Given the description of an element on the screen output the (x, y) to click on. 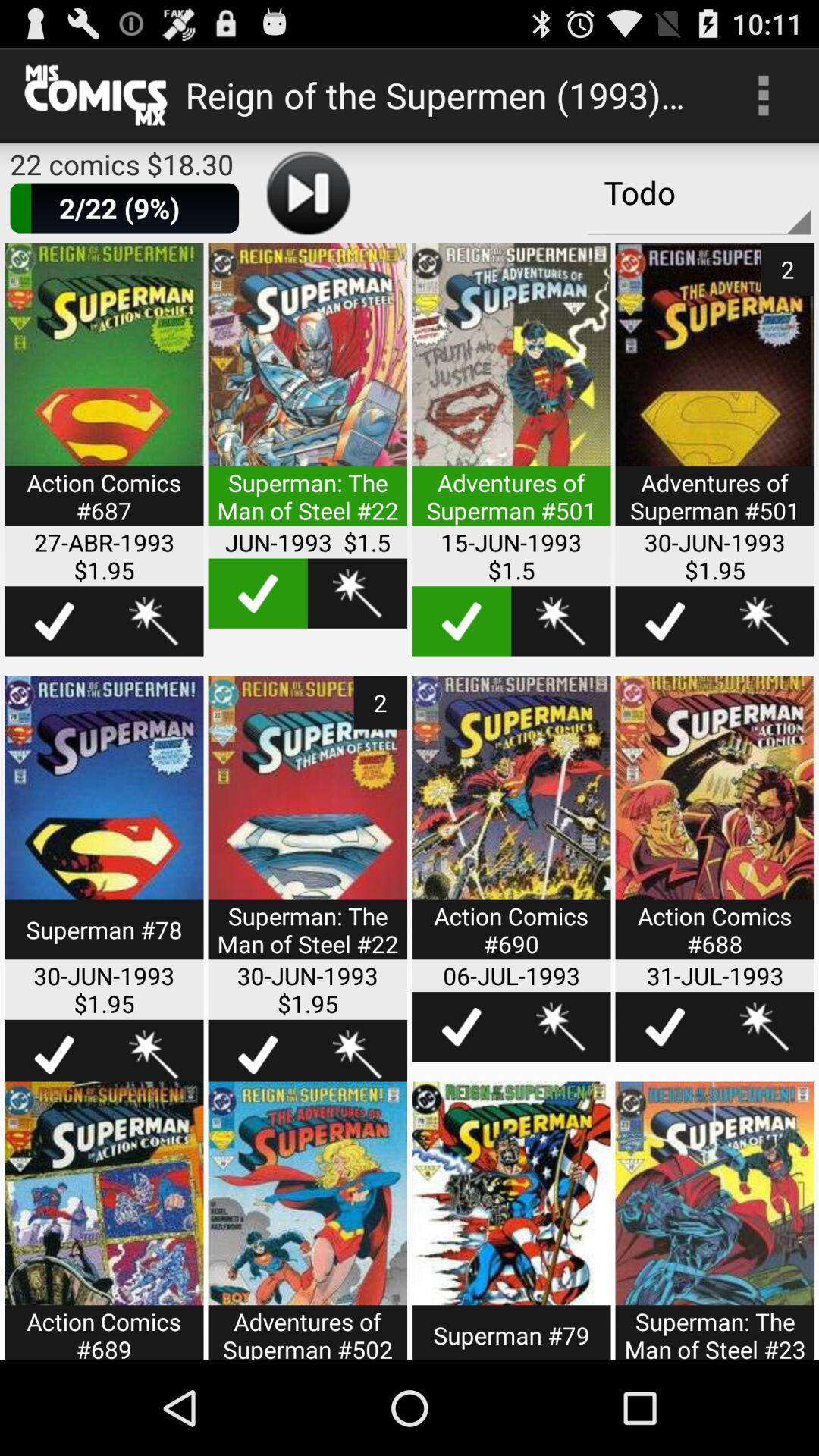
go to superman comic (307, 1220)
